Given the description of an element on the screen output the (x, y) to click on. 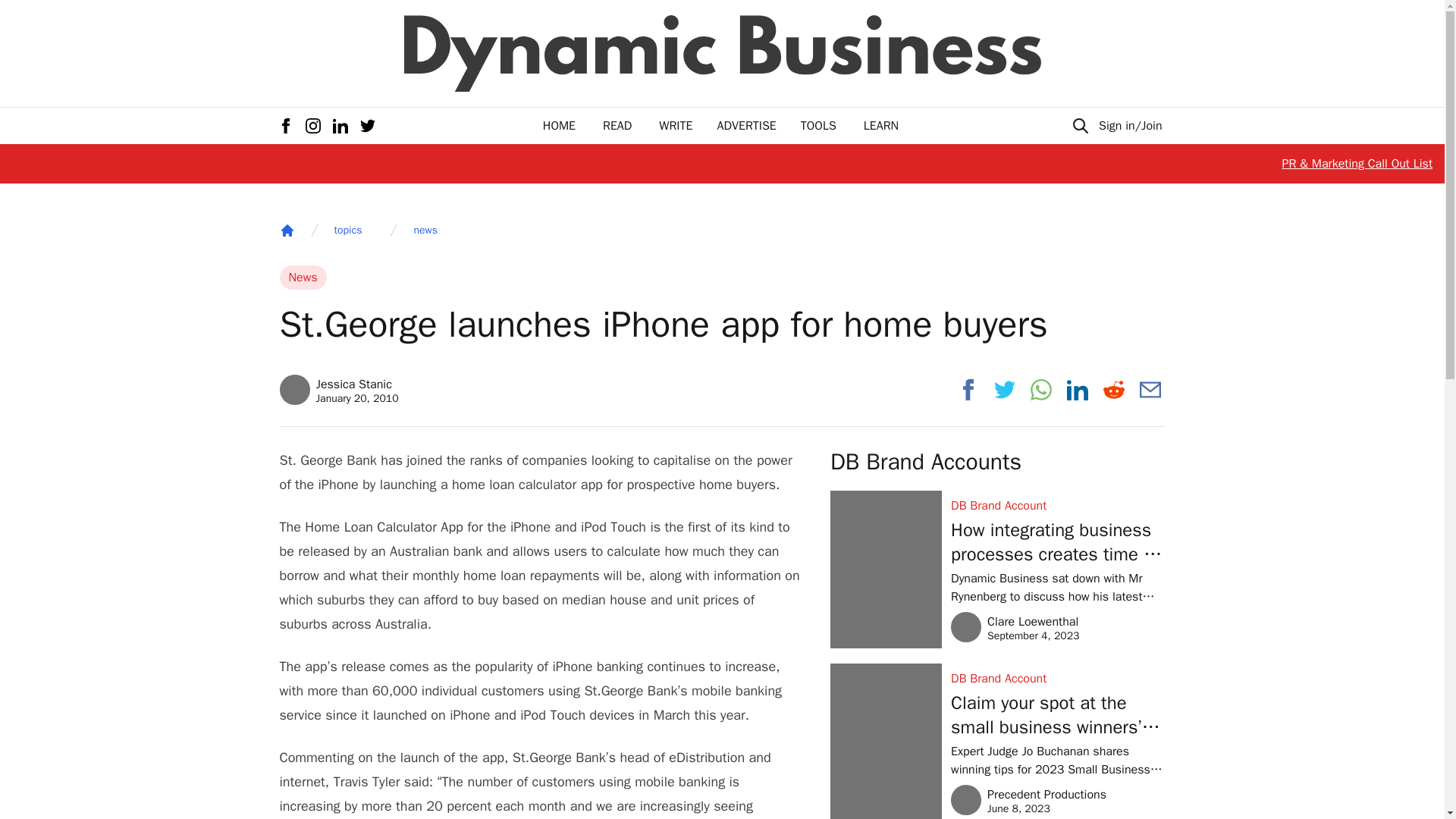
DB Brand Account (1057, 505)
LEARN (880, 126)
news (425, 230)
How integrating business processes creates time for growth (1057, 542)
WRITE (676, 126)
READ (616, 126)
TOOLS (817, 126)
DB Brand Account (1014, 626)
HOME (1057, 678)
